Given the description of an element on the screen output the (x, y) to click on. 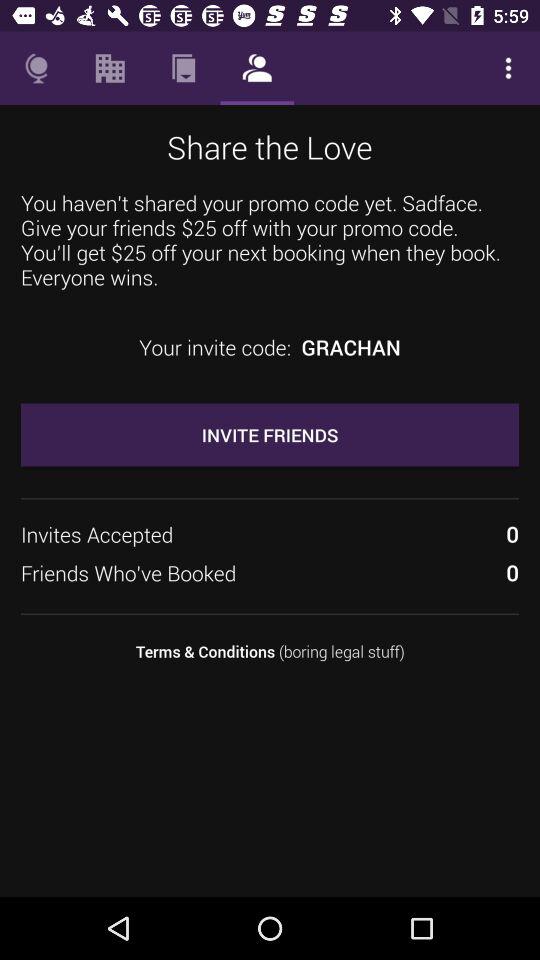
turn on item at the top right corner (508, 67)
